Given the description of an element on the screen output the (x, y) to click on. 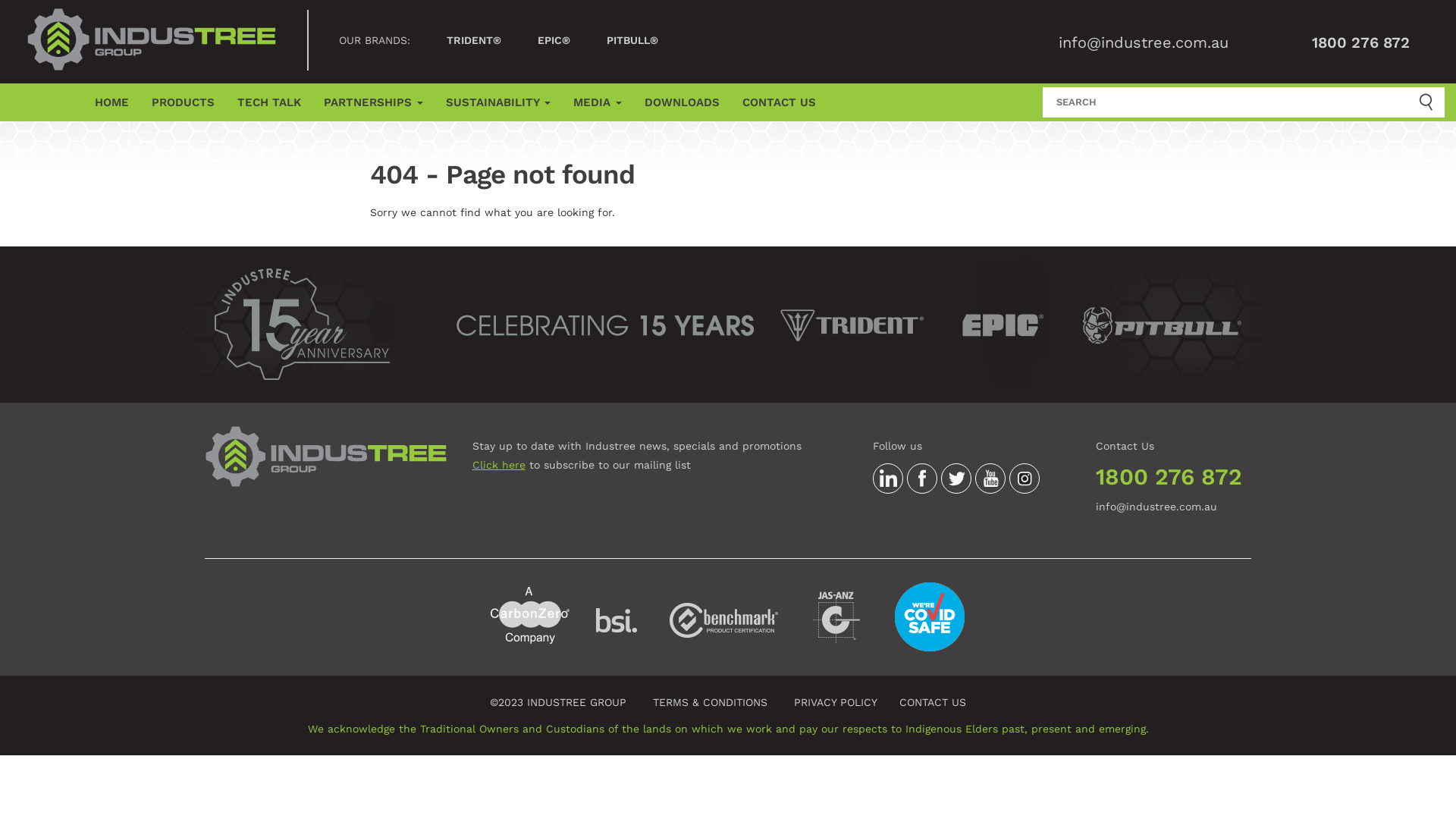
PRIVACY POLICY Element type: text (834, 702)
HOME Element type: text (111, 102)
PRODUCTS Element type: text (182, 102)
1800 276 872 Element type: text (1364, 42)
DOWNLOADS Element type: text (682, 102)
1800 276 872 Element type: text (1168, 476)
CONTACT US Element type: text (932, 702)
CONTACT US Element type: text (779, 102)
info@industree.com.au Element type: text (1156, 506)
TECH TALK Element type: text (268, 102)
MEDIA Element type: text (597, 102)
SUSTAINABILITY Element type: text (497, 102)
TERMS & CONDITIONS Element type: text (709, 702)
info@industree.com.au Element type: text (1143, 42)
Click here Element type: text (497, 464)
PARTNERSHIPS Element type: text (373, 102)
